Given the description of an element on the screen output the (x, y) to click on. 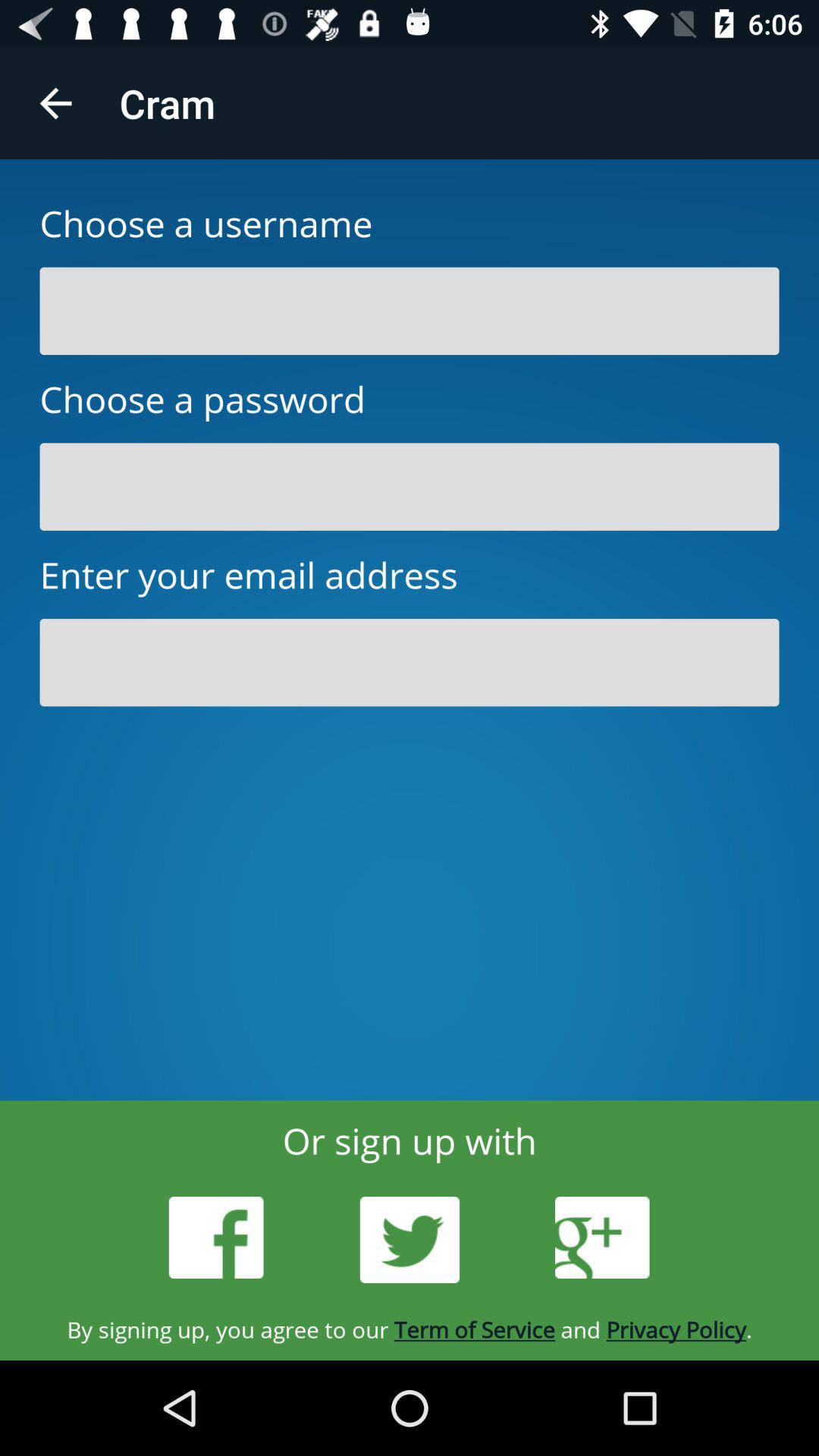
tap the icon above by signing up (602, 1237)
